Given the description of an element on the screen output the (x, y) to click on. 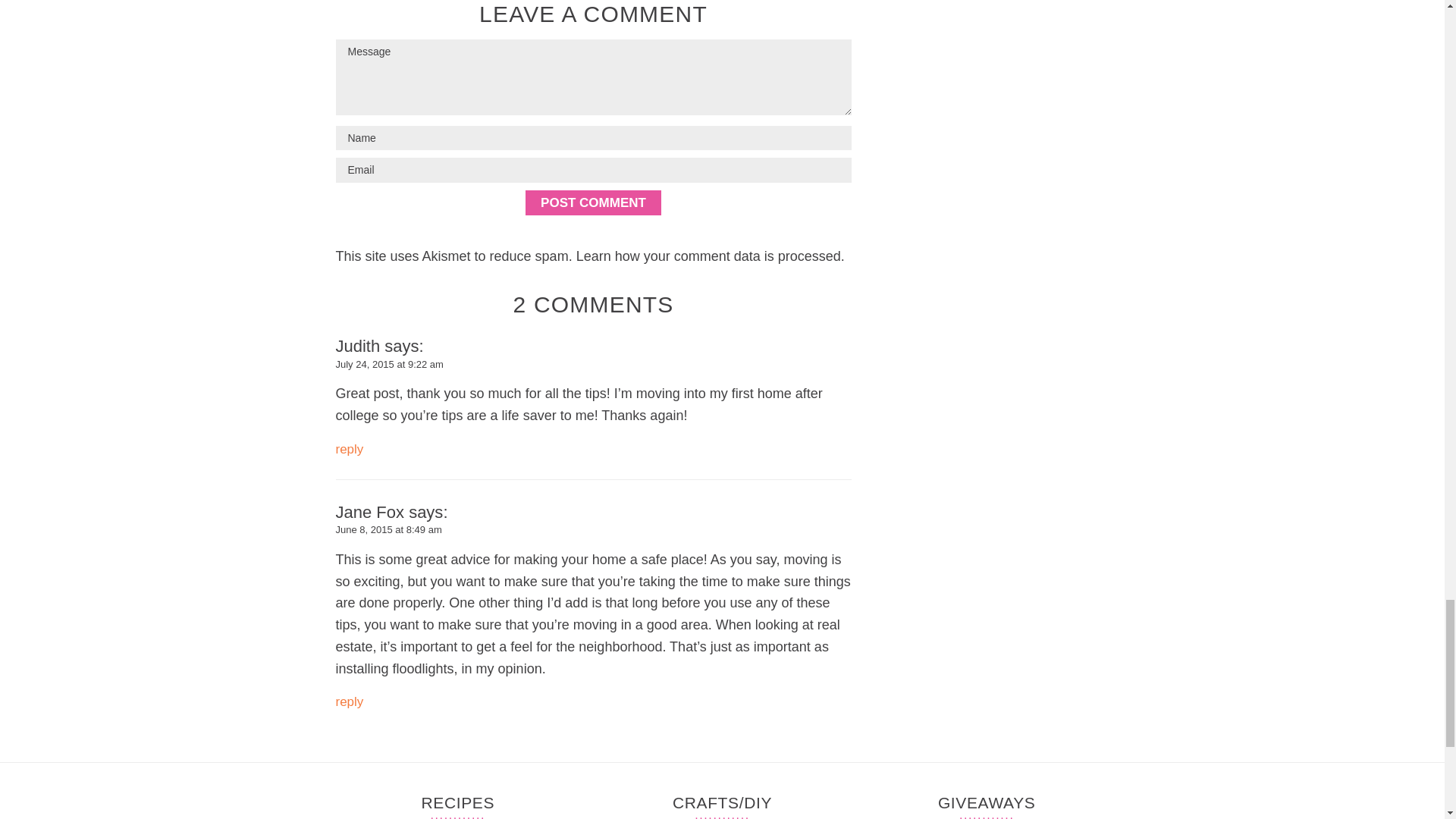
Post Comment (593, 202)
